Given the description of an element on the screen output the (x, y) to click on. 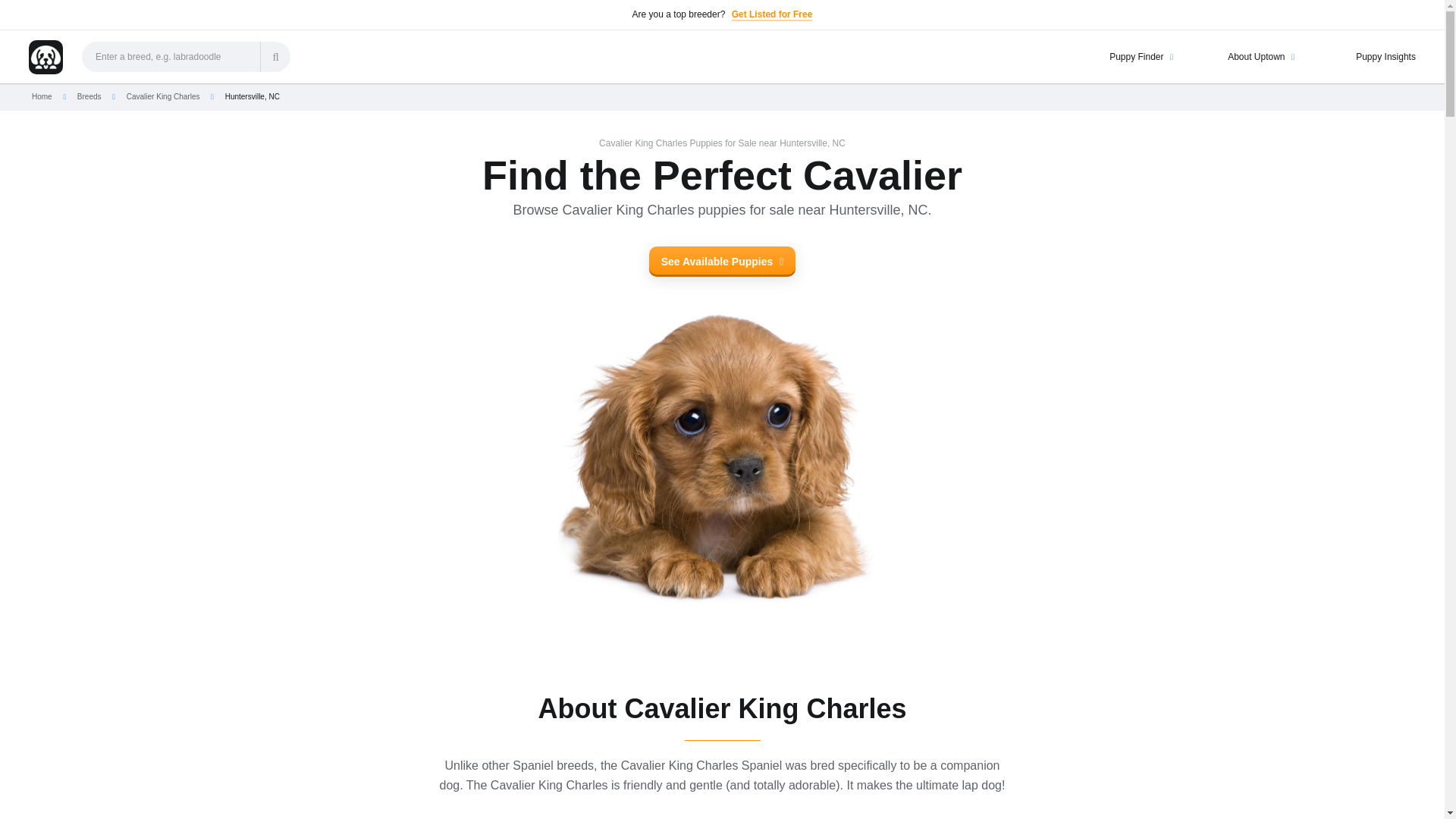
Home (42, 96)
About Uptown (1243, 56)
Get Listed for Free (772, 15)
Puppy Insights (1364, 56)
Puppy Finder (1121, 56)
Cavalier King Charles (163, 96)
Breeds (89, 96)
See Available Puppies (722, 261)
